Given the description of an element on the screen output the (x, y) to click on. 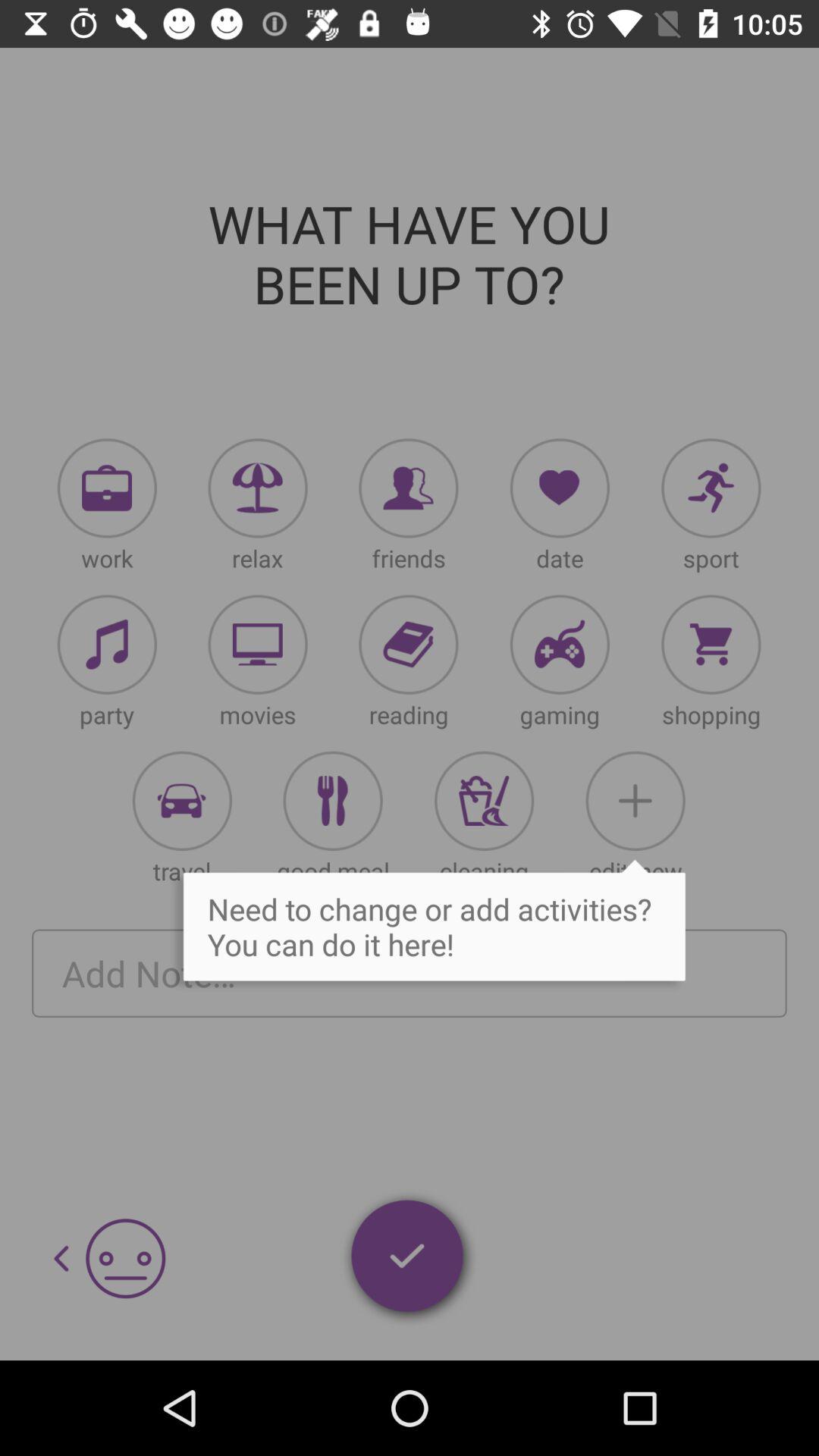
tap to see movies (257, 644)
